Given the description of an element on the screen output the (x, y) to click on. 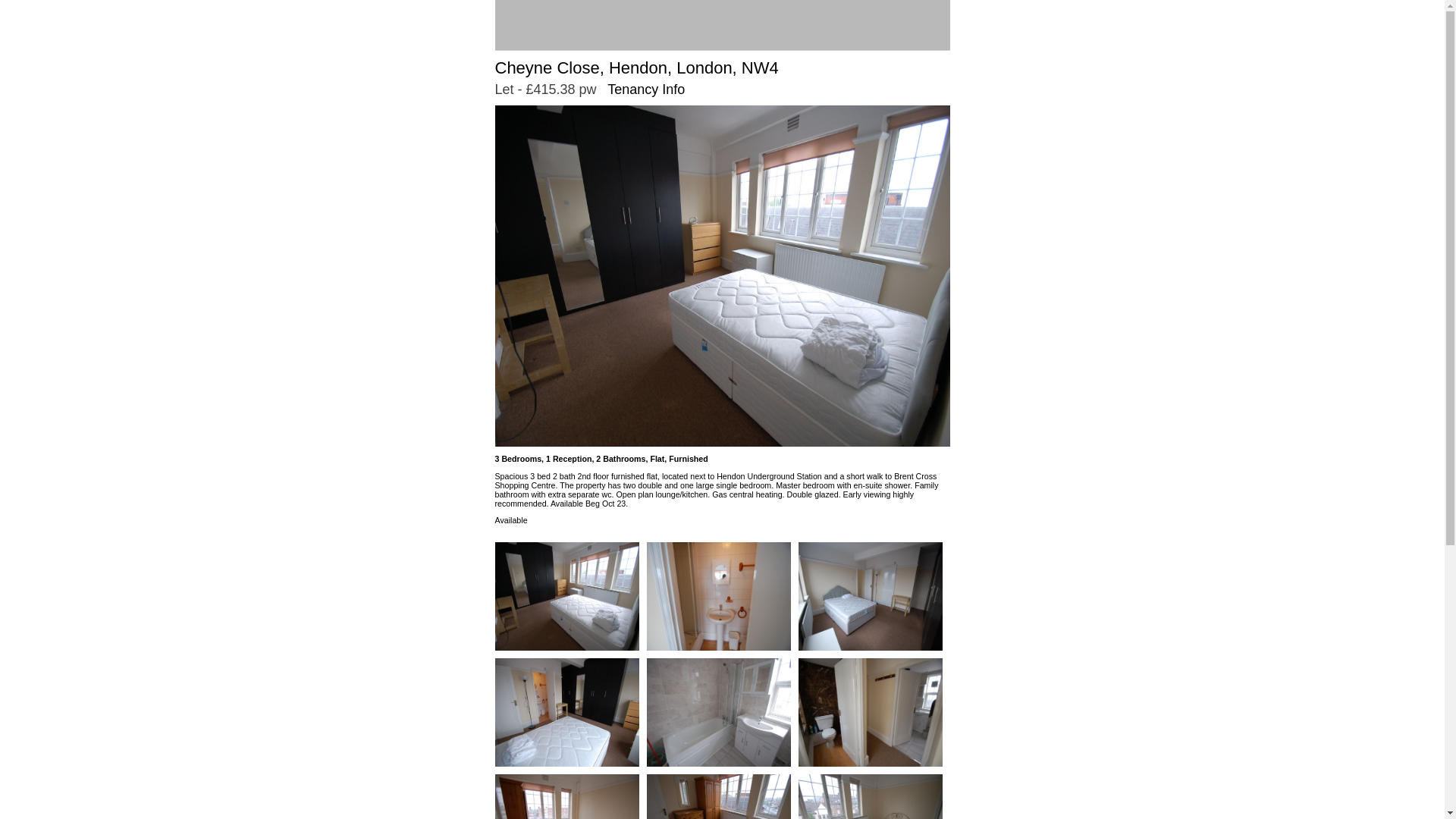
Photo 6 (718, 712)
Photo 10 (718, 796)
Photo 11 (869, 796)
Tenancy Info (645, 89)
Photo 3 (869, 596)
Photo 1 (567, 596)
Photo 4 (567, 712)
Photo 8 (869, 712)
Photo 9 (567, 796)
Photo 2 (718, 596)
